Given the description of an element on the screen output the (x, y) to click on. 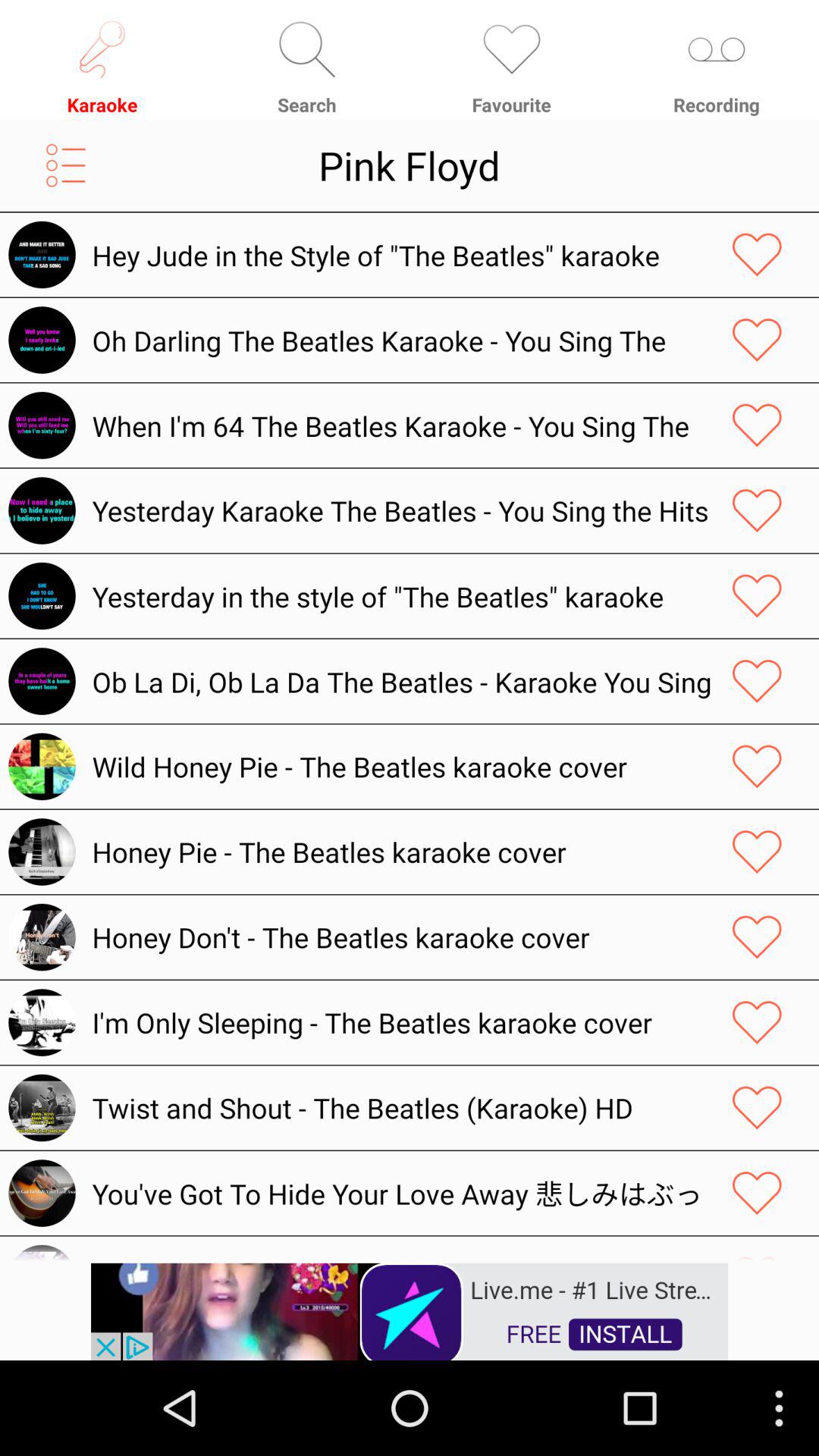
mark as a favorite (756, 851)
